Given the description of an element on the screen output the (x, y) to click on. 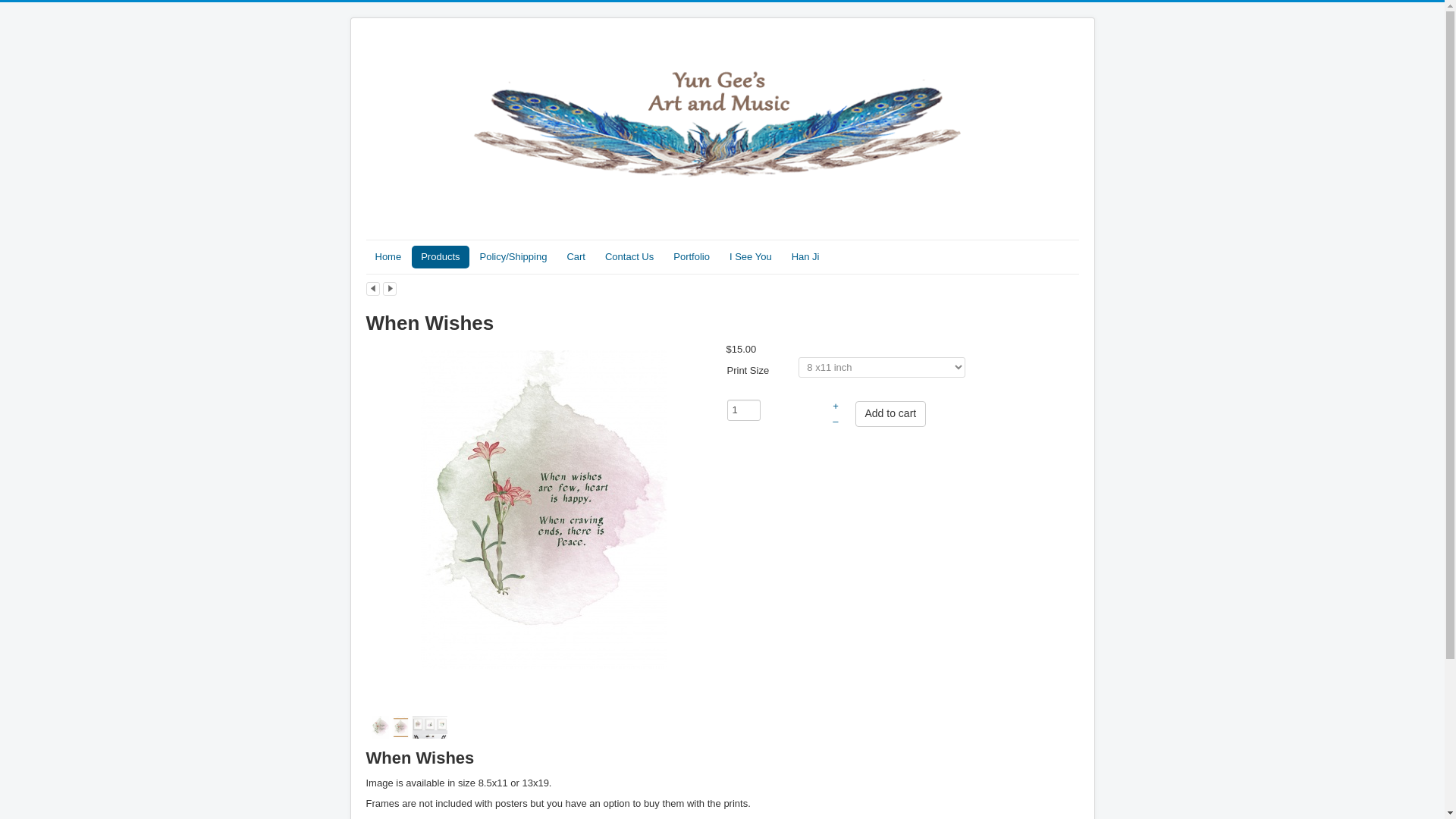
I See You (750, 256)
Contact Us (628, 256)
Cart (575, 256)
1 (743, 409)
Portfolio (691, 256)
Products (440, 256)
Add to cart (891, 413)
Add to cart (891, 413)
Han Ji (805, 256)
Home (387, 256)
